Given the description of an element on the screen output the (x, y) to click on. 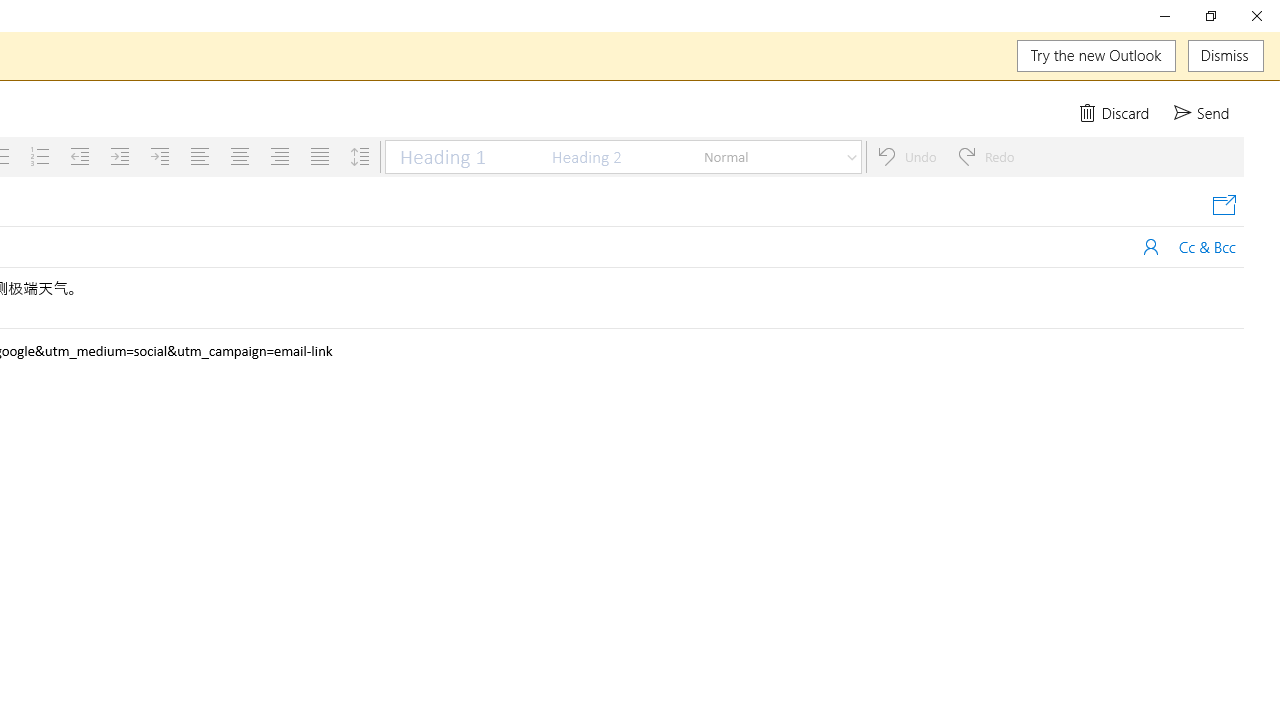
Increase Indent (119, 156)
Open message in a new window (1224, 205)
Send (1203, 112)
Discard (1115, 112)
Heading 2 (613, 156)
Styles (852, 156)
Normal (765, 156)
Decrease Indent (79, 156)
Line & Paragraph Spacing (360, 156)
Try the new Outlook (1096, 56)
Choose contacts (1151, 246)
Dismiss (1225, 56)
Redo (986, 156)
Special Indent (159, 156)
